Given the description of an element on the screen output the (x, y) to click on. 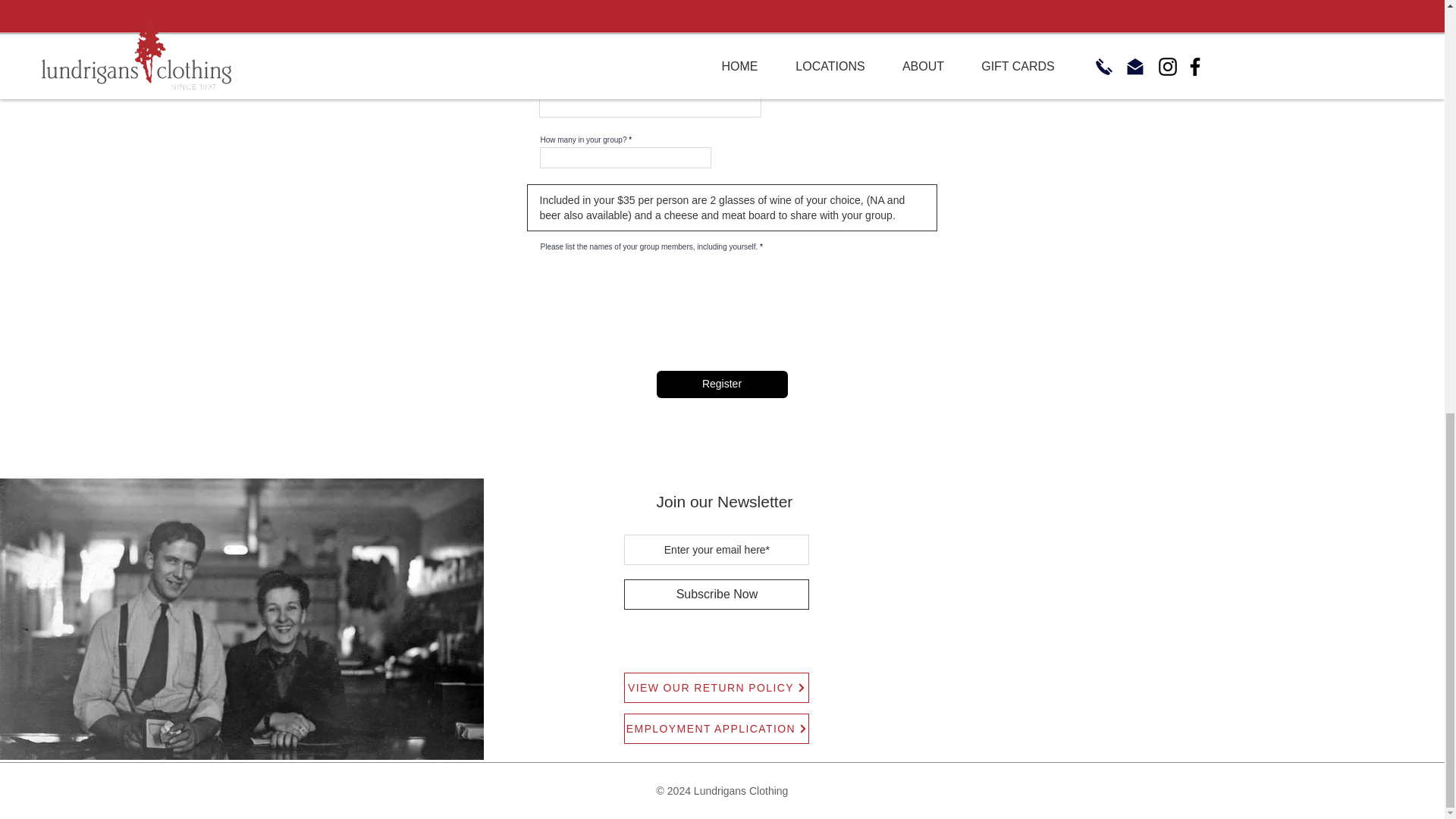
VIEW OUR RETURN POLICY (716, 687)
Register (721, 384)
EMPLOYMENT APPLICATION (716, 728)
Subscribe Now (716, 594)
